Given the description of an element on the screen output the (x, y) to click on. 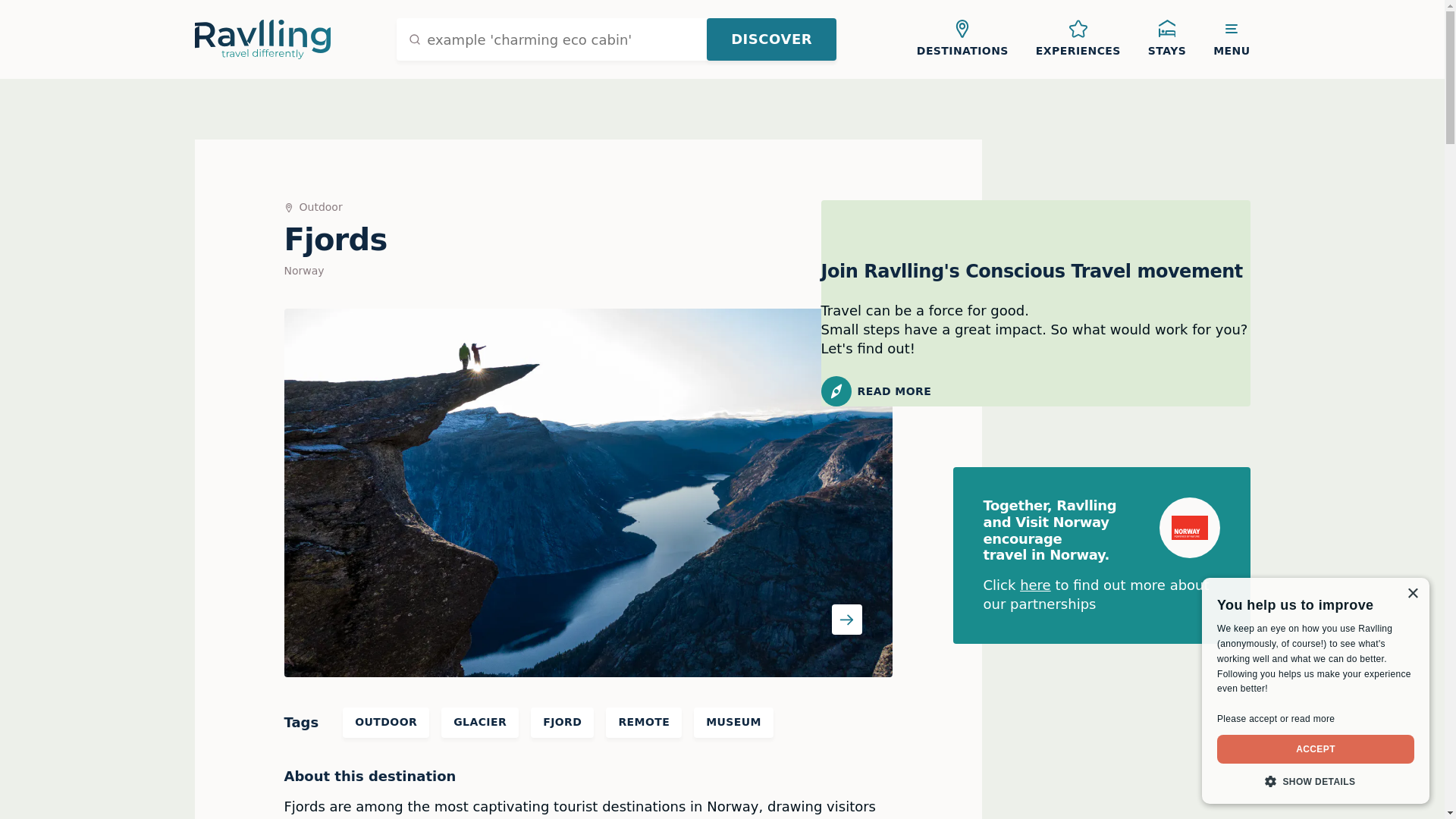
READ MORE (1035, 390)
here (1035, 584)
MENU (1231, 38)
STAYS (1166, 38)
GLACIER (479, 722)
FJORD (562, 722)
REMOTE (643, 722)
DISCOVER (770, 39)
DESTINATIONS (962, 38)
MUSEUM (733, 722)
OUTDOOR (385, 722)
EXPERIENCES (1078, 38)
